Given the description of an element on the screen output the (x, y) to click on. 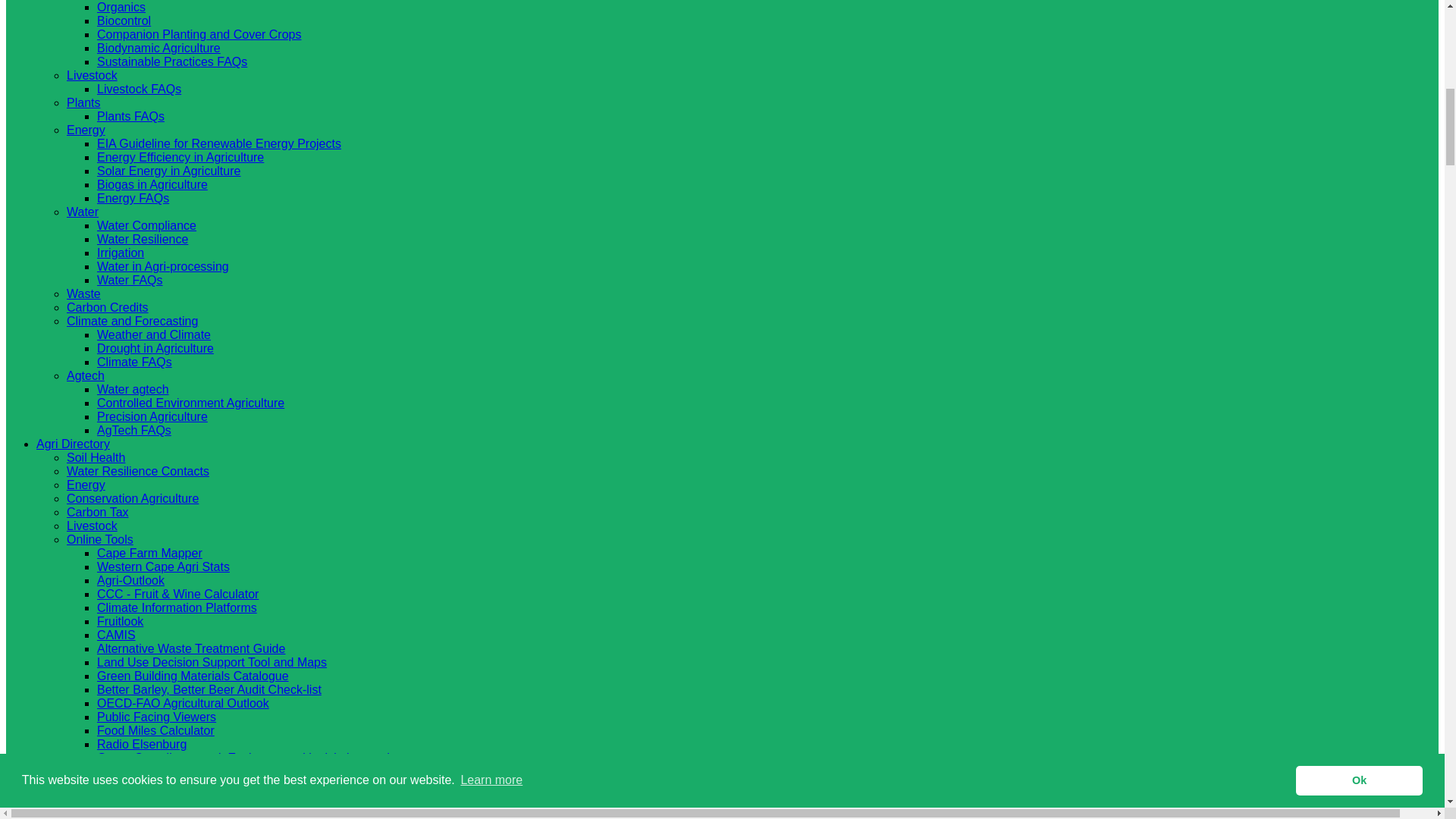
Companion Planting and Cover Crops (199, 33)
Livestock (91, 74)
Biodynamic Agriculture (159, 47)
Biocontrol (124, 20)
Sustainable Practices FAQs (172, 61)
Livestock FAQs (138, 88)
Organics (121, 6)
